Given the description of an element on the screen output the (x, y) to click on. 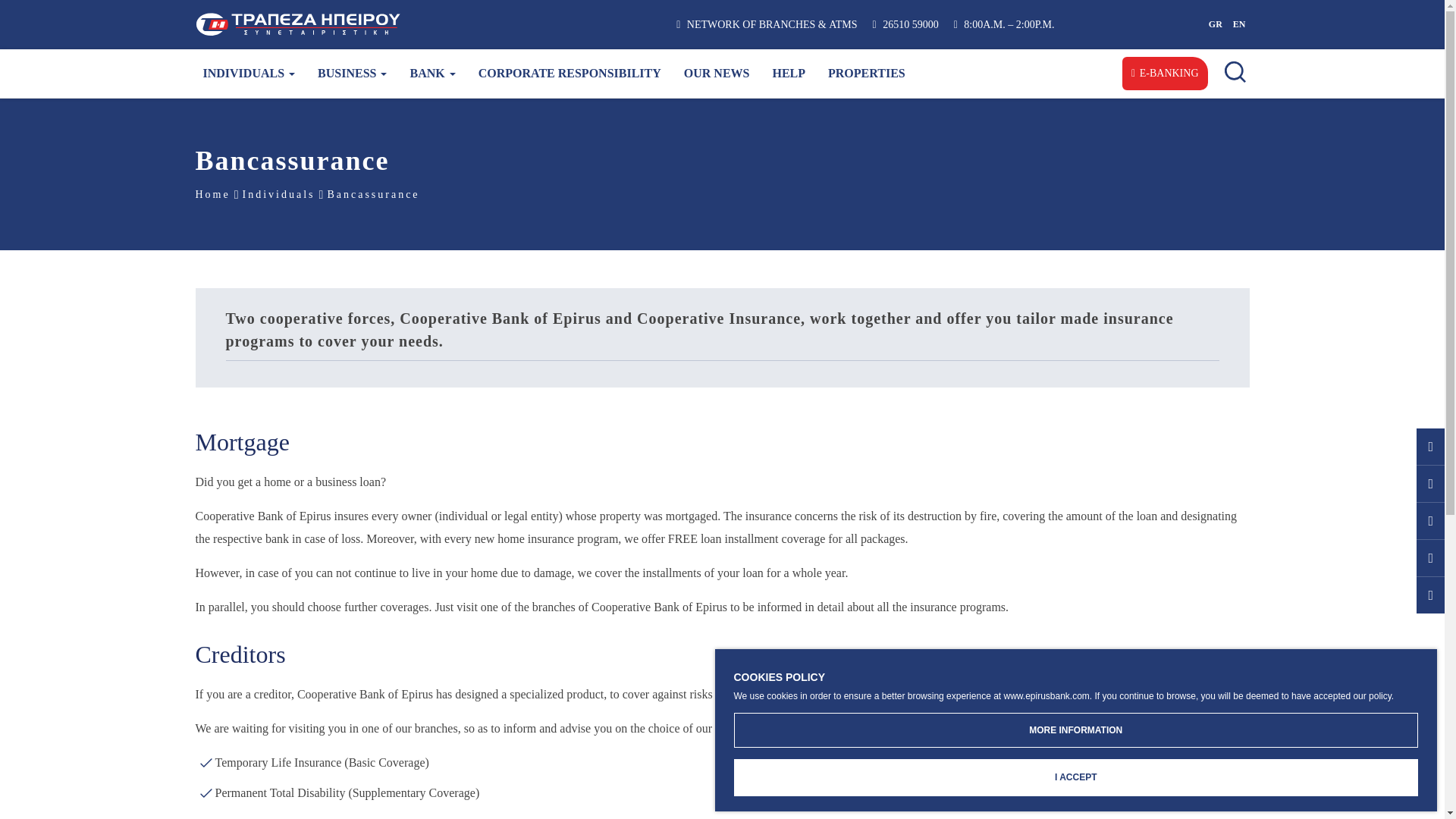
GR (1215, 26)
26510 59000 (905, 24)
MORE INFORMATION (1075, 729)
INDIVIDUALS (247, 73)
I ACCEPT (1075, 777)
EN (1238, 26)
Individuals (247, 73)
Cooperative Bank of Epirus (394, 24)
Cooperative Bank of Epirus (394, 24)
BUSINESS (351, 73)
